Given the description of an element on the screen output the (x, y) to click on. 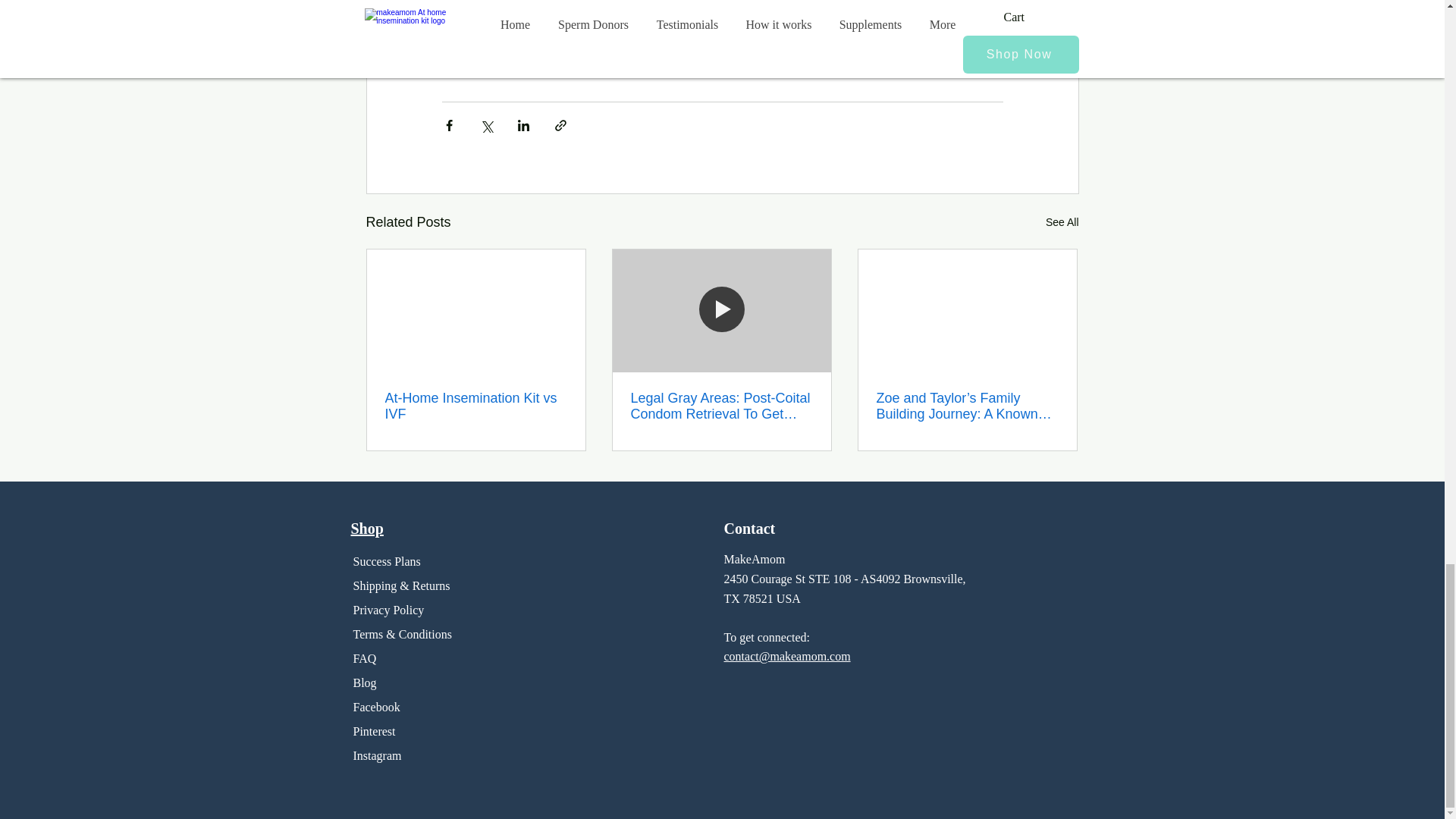
Pinterest (374, 730)
FAQ (365, 658)
Shop (366, 528)
Success Plans (386, 561)
Blog (365, 682)
At-Home Insemination Kit vs IVF (476, 406)
Instagram (377, 755)
See All (1061, 222)
Privacy Policy  (390, 609)
Facebook (376, 707)
